Given the description of an element on the screen output the (x, y) to click on. 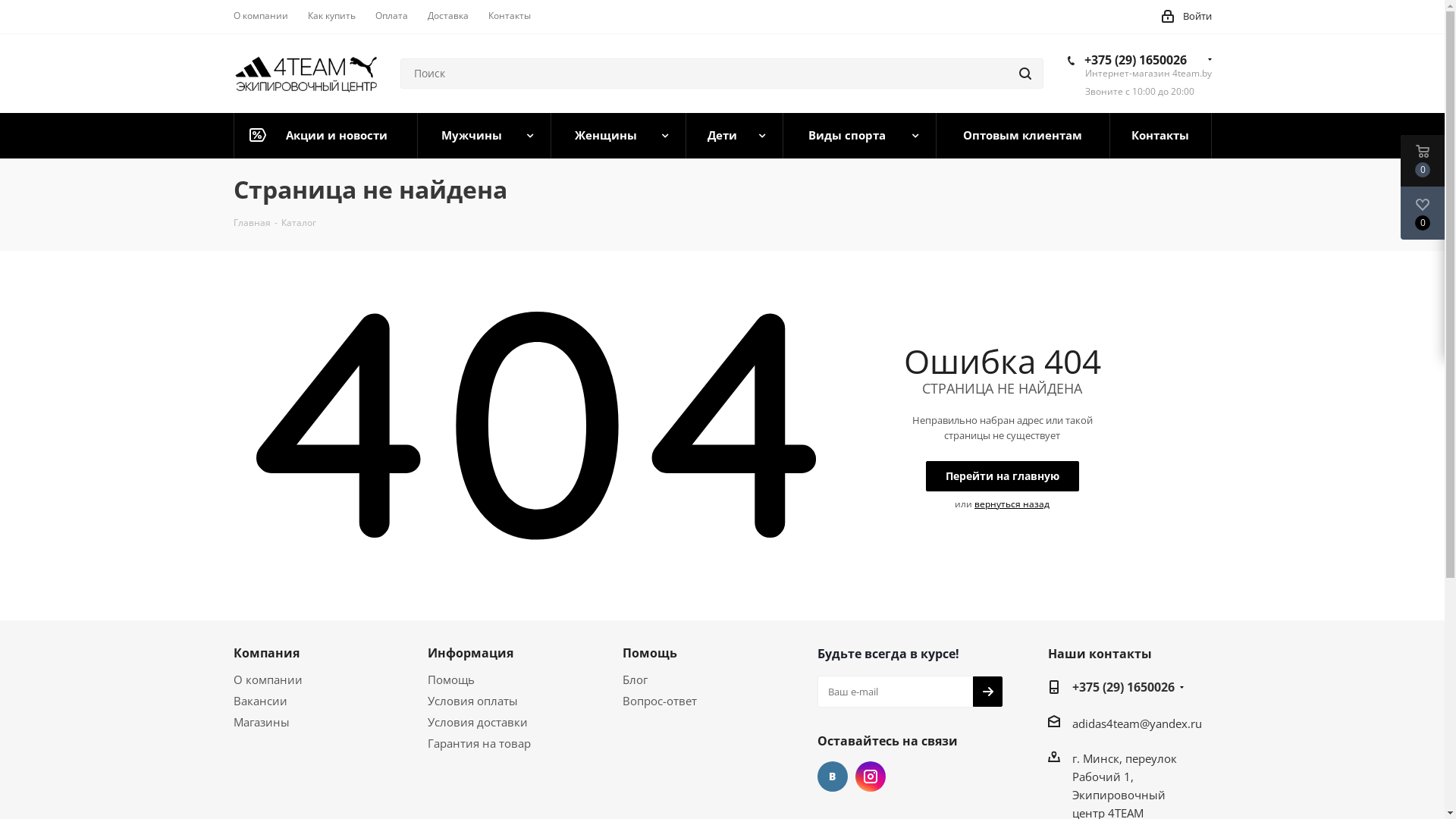
+375 (29) 1650026 Element type: text (1135, 59)
Instagram Element type: text (870, 776)
+375 (29) 1650026 Element type: text (1123, 687)
adidas4team@yandex.ru Element type: text (1136, 723)
